Given the description of an element on the screen output the (x, y) to click on. 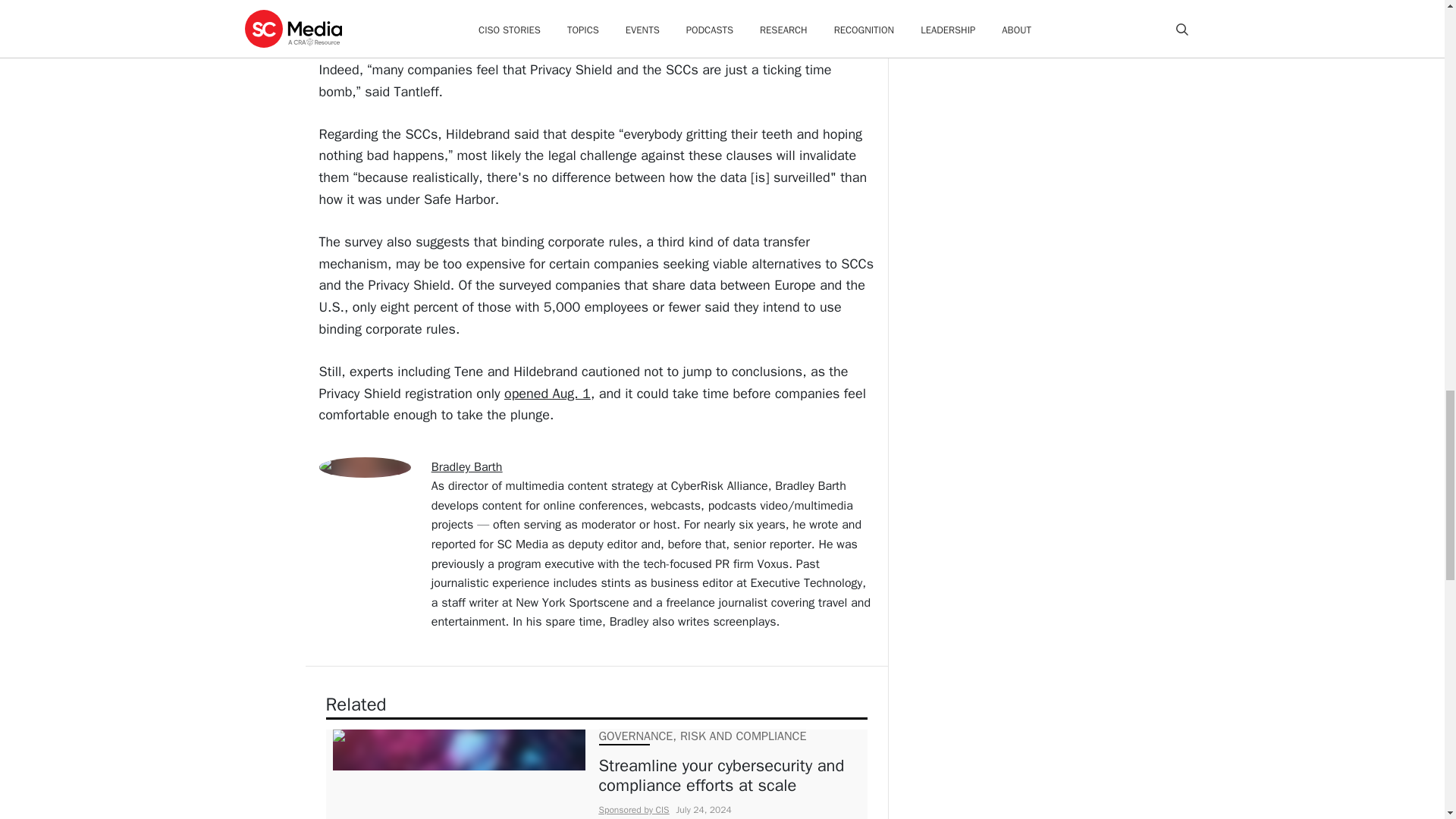
Sponsored by CIS (633, 809)
opened Aug. 1 (547, 393)
GOVERNANCE, RISK AND COMPLIANCE (702, 735)
Bradley Barth (466, 467)
